Given the description of an element on the screen output the (x, y) to click on. 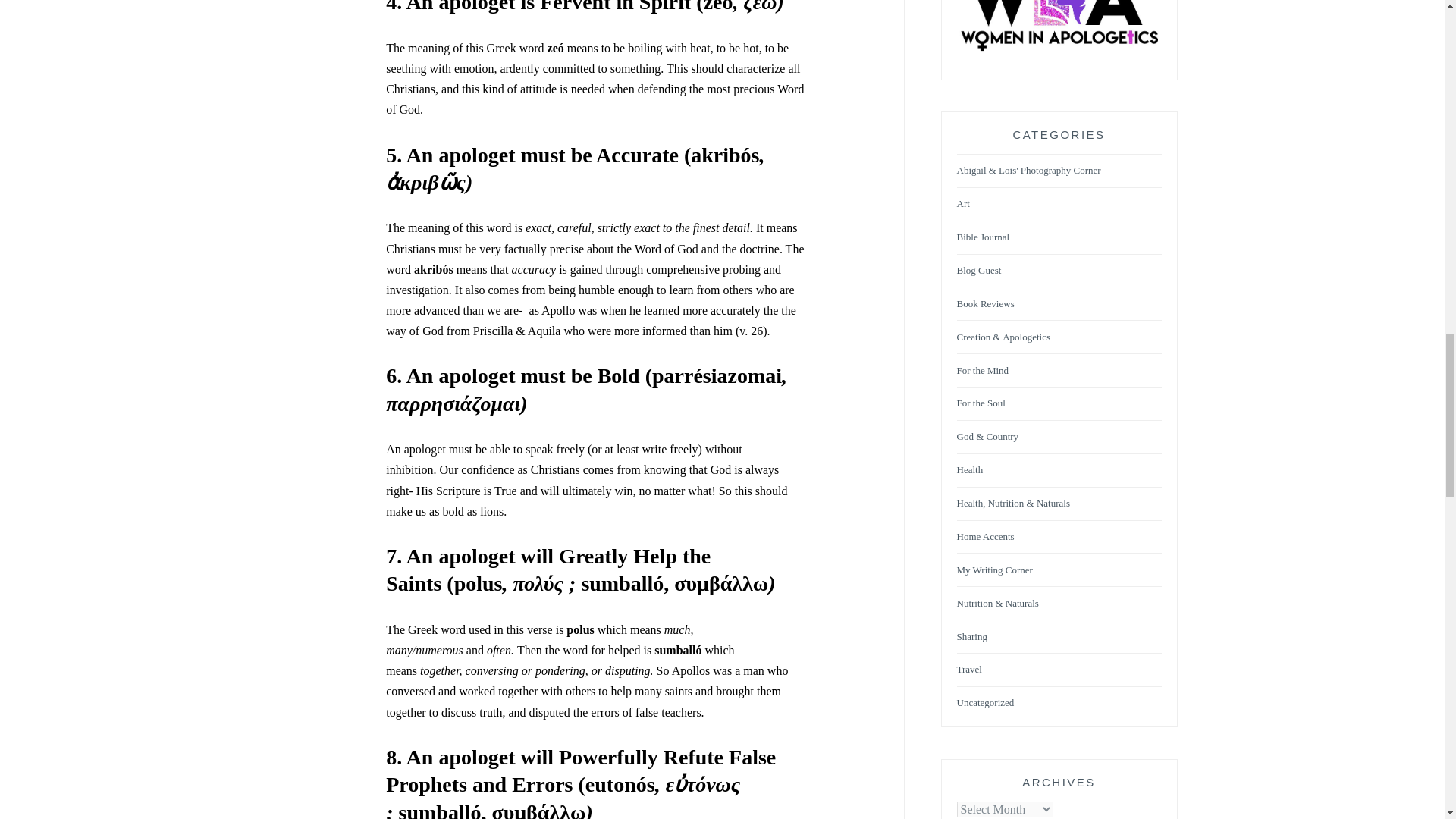
For the Soul (981, 403)
Book Reviews (985, 304)
Bible Journal (983, 237)
Art (962, 204)
For the Mind (982, 370)
Blog Guest (978, 270)
Health (970, 470)
